Given the description of an element on the screen output the (x, y) to click on. 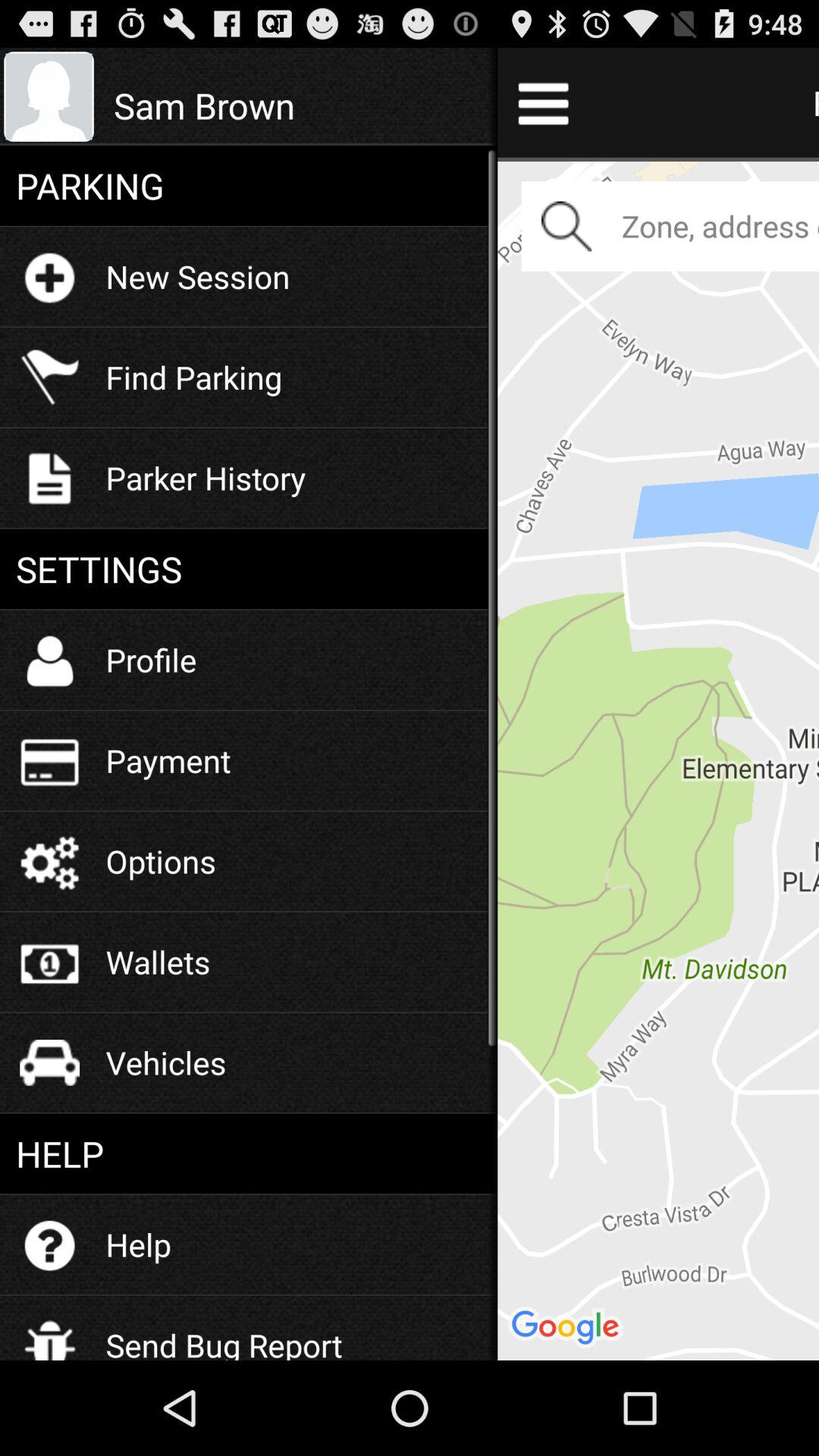
click icon on the right (658, 758)
